Given the description of an element on the screen output the (x, y) to click on. 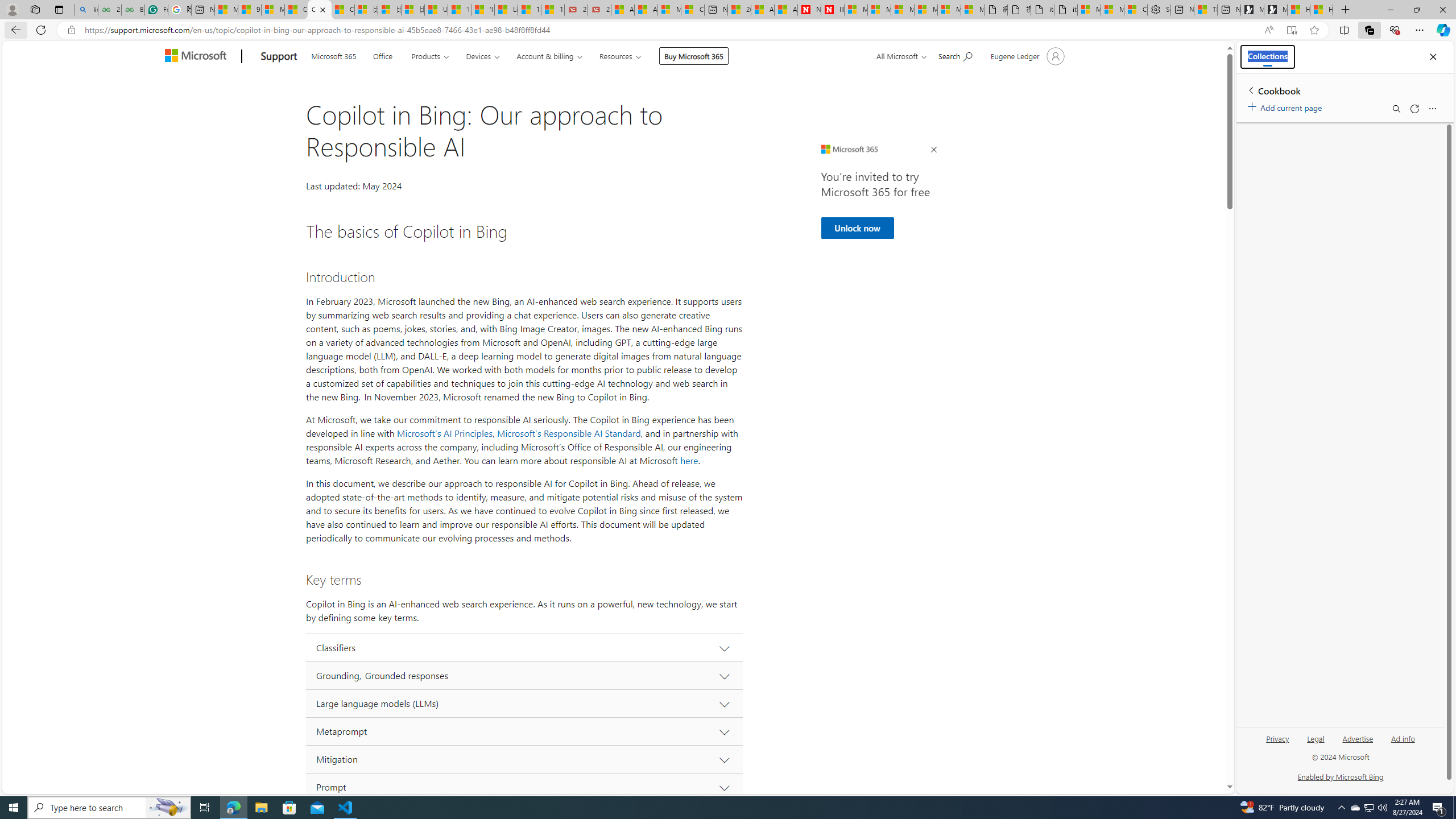
25 Basic Linux Commands For Beginners - GeeksforGeeks (109, 9)
Legal (1315, 742)
Best SSL Certificates Provider in India - GeeksforGeeks (132, 9)
Ad info (1402, 738)
21 Movies That Outdid the Books They Were Based On (598, 9)
Add current page (1286, 105)
How to Use a TV as a Computer Monitor (1321, 9)
Free AI Writing Assistance for Students | Grammarly (156, 9)
